Given the description of an element on the screen output the (x, y) to click on. 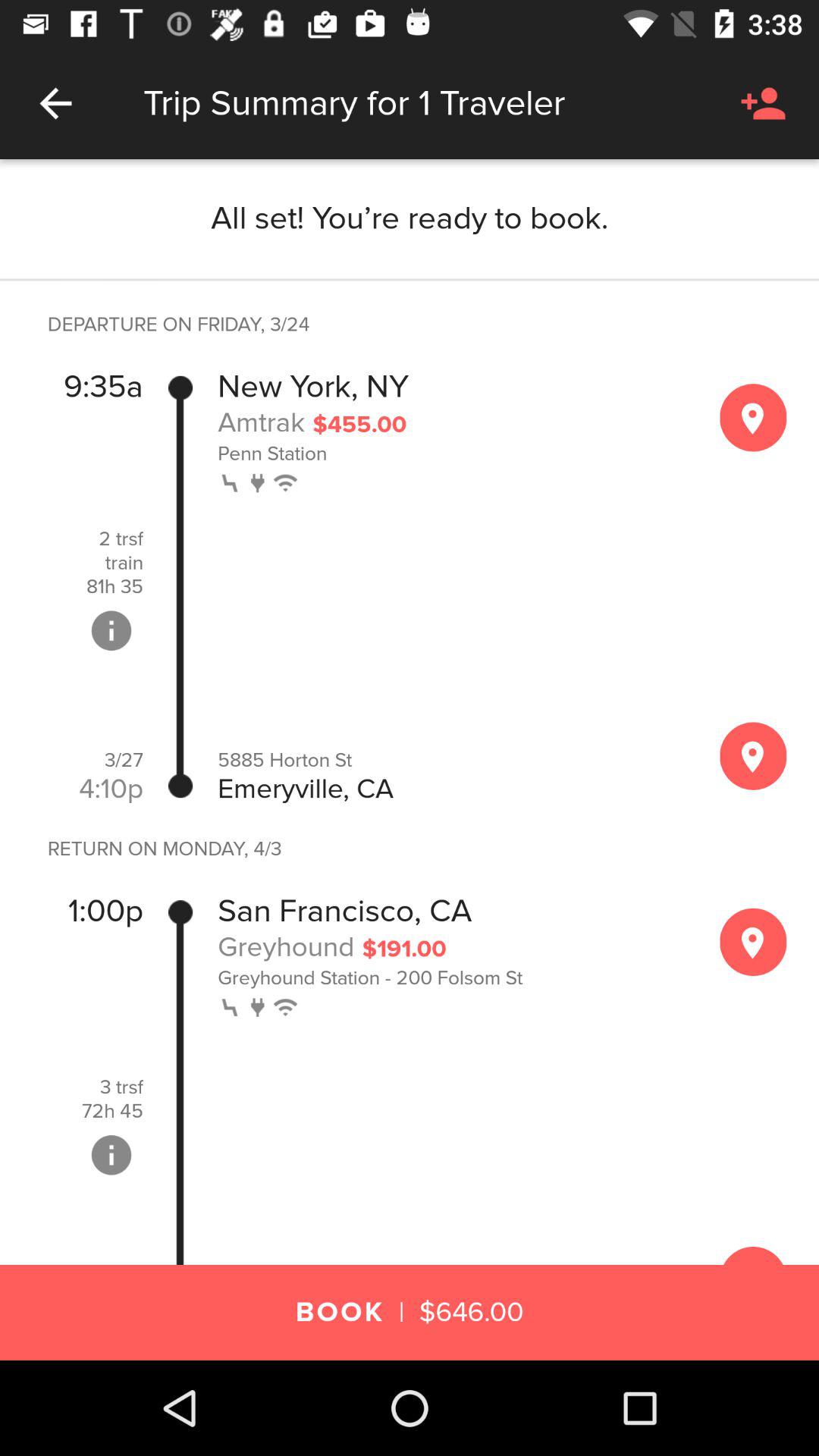
select the departure on friday item (170, 324)
